Given the description of an element on the screen output the (x, y) to click on. 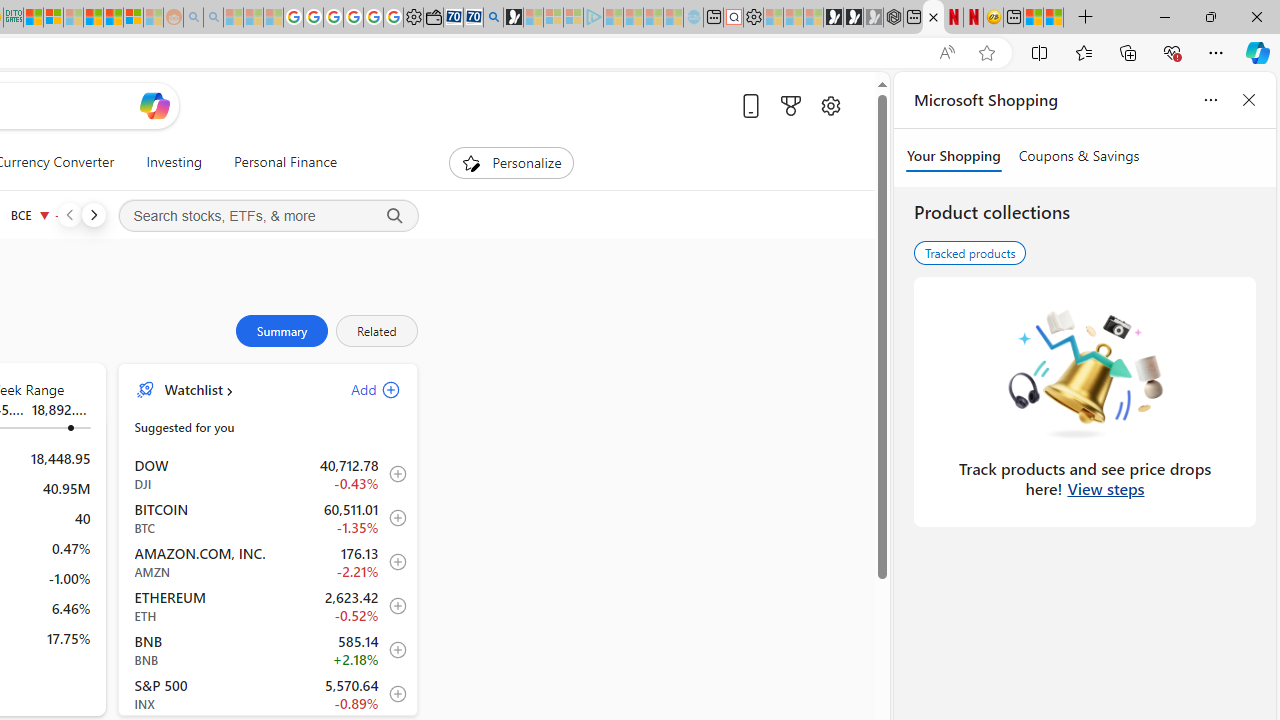
Previous (69, 214)
Investing (174, 162)
Wildlife - MSN (1033, 17)
AMZN AMAZON.COM, INC. decrease 176.13 -3.98 -2.21% item2 (267, 561)
BTC Bitcoin decrease 60,511.01 -814.48 -1.35% item1 (267, 518)
